Given the description of an element on the screen output the (x, y) to click on. 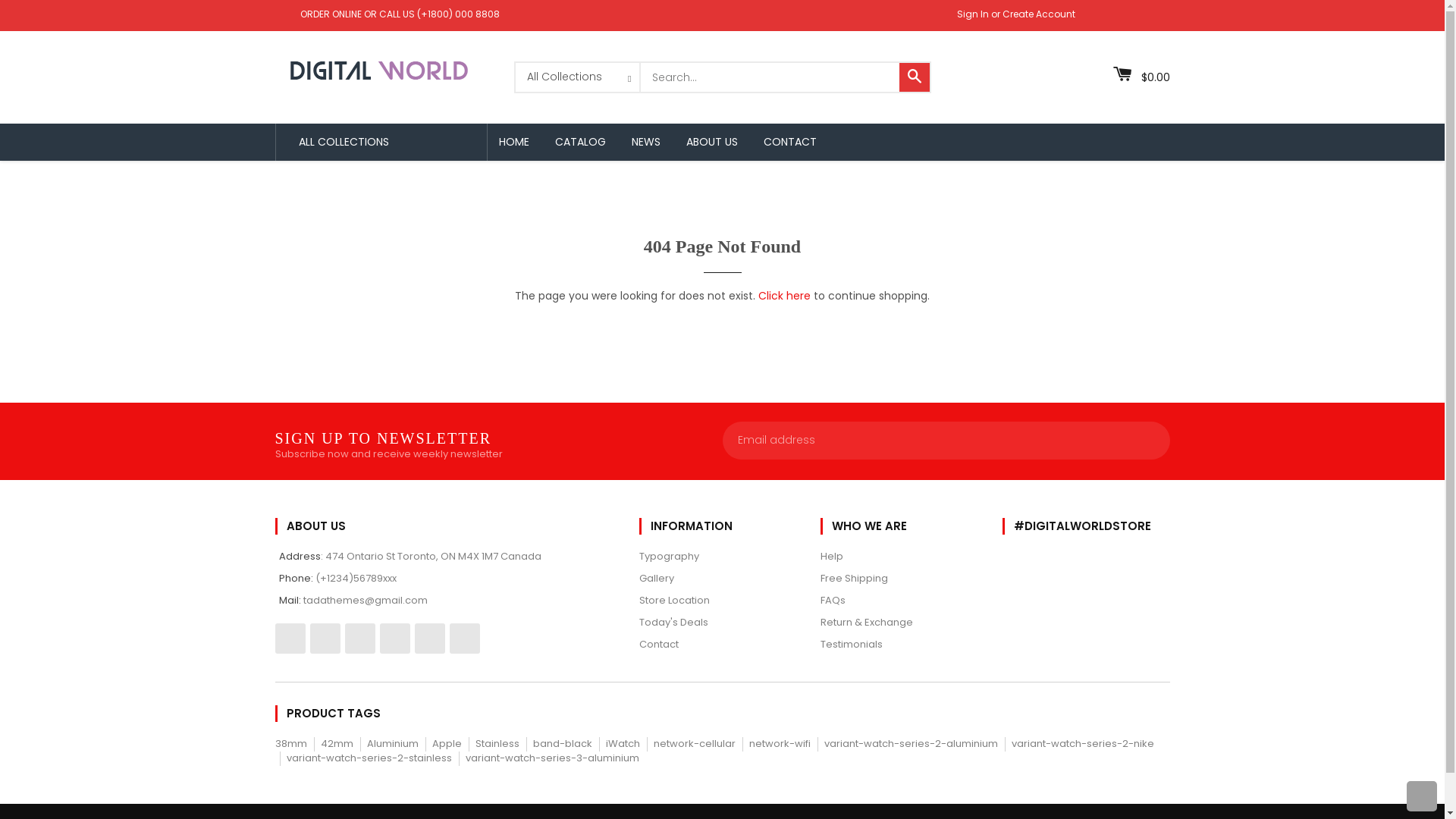
Today's Deals Element type: text (672, 622)
HOME Element type: text (512, 141)
Click here Element type: text (784, 295)
Search Element type: text (914, 76)
Stainless Element type: text (496, 743)
Help Element type: text (831, 556)
Typography Element type: text (668, 556)
38mm Element type: text (290, 743)
Apple Element type: text (446, 743)
network-cellular Element type: text (694, 743)
CONTACT Element type: text (790, 141)
Store Location Element type: text (673, 600)
variant-watch-series-3-aluminium Element type: text (552, 757)
FAQs Element type: text (832, 600)
Scroll to Top Element type: hover (1421, 796)
variant-watch-series-2-nike Element type: text (1082, 743)
variant-watch-series-2-aluminium Element type: text (910, 743)
Testimonials Element type: text (851, 644)
band-black Element type: text (561, 743)
Aluminium Element type: text (392, 743)
variant-watch-series-2-stainless Element type: text (368, 757)
Contact Element type: text (657, 644)
Cart
$0.00 Element type: text (1141, 74)
42mm Element type: text (336, 743)
NEWS Element type: text (645, 141)
Gallery Element type: text (655, 578)
Free Shipping Element type: text (854, 578)
Sign In or Create Account Element type: text (1016, 13)
CATALOG Element type: text (579, 141)
ABOUT US Element type: text (711, 141)
network-wifi Element type: text (779, 743)
iWatch Element type: text (622, 743)
Return & Exchange Element type: text (866, 622)
